Given the description of an element on the screen output the (x, y) to click on. 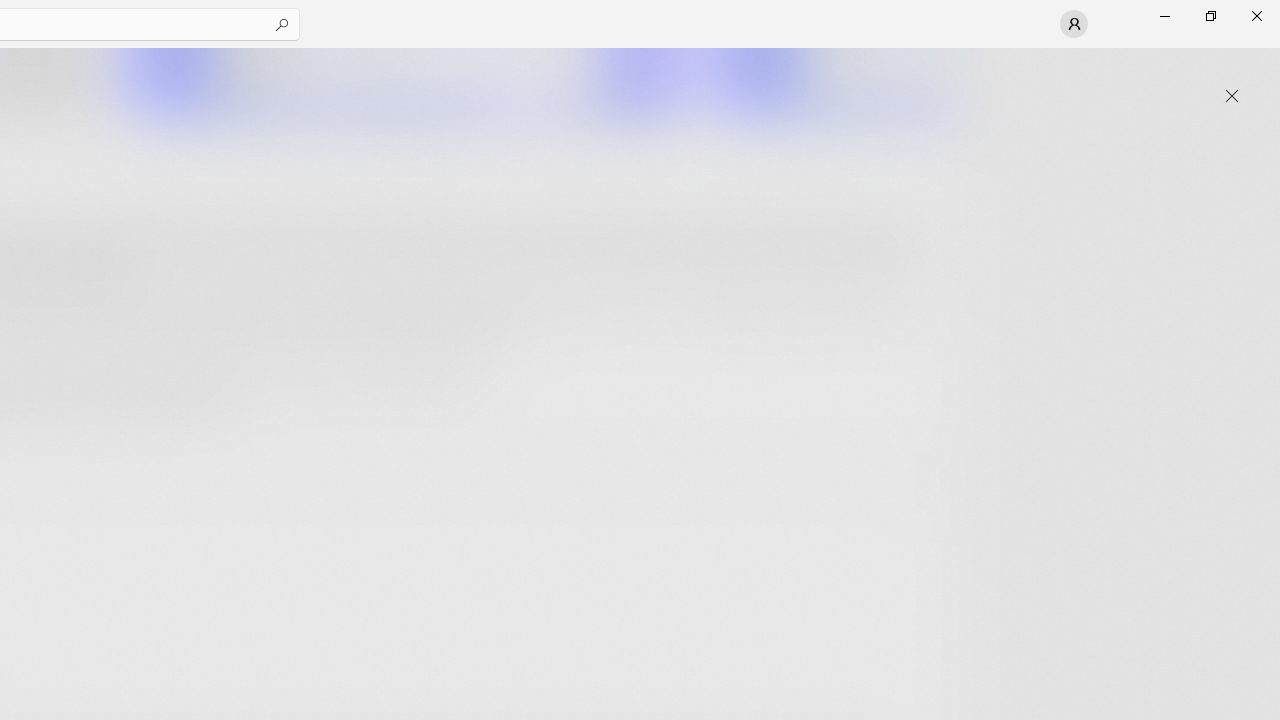
Close Microsoft Store (1256, 15)
Screenshot 2 (406, 81)
Screenshot 3 (833, 81)
Restore Microsoft Store (1210, 15)
close popup window (1232, 95)
Show all ratings and reviews (924, 495)
Minimize Microsoft Store (1164, 15)
User profile (1073, 24)
